Given the description of an element on the screen output the (x, y) to click on. 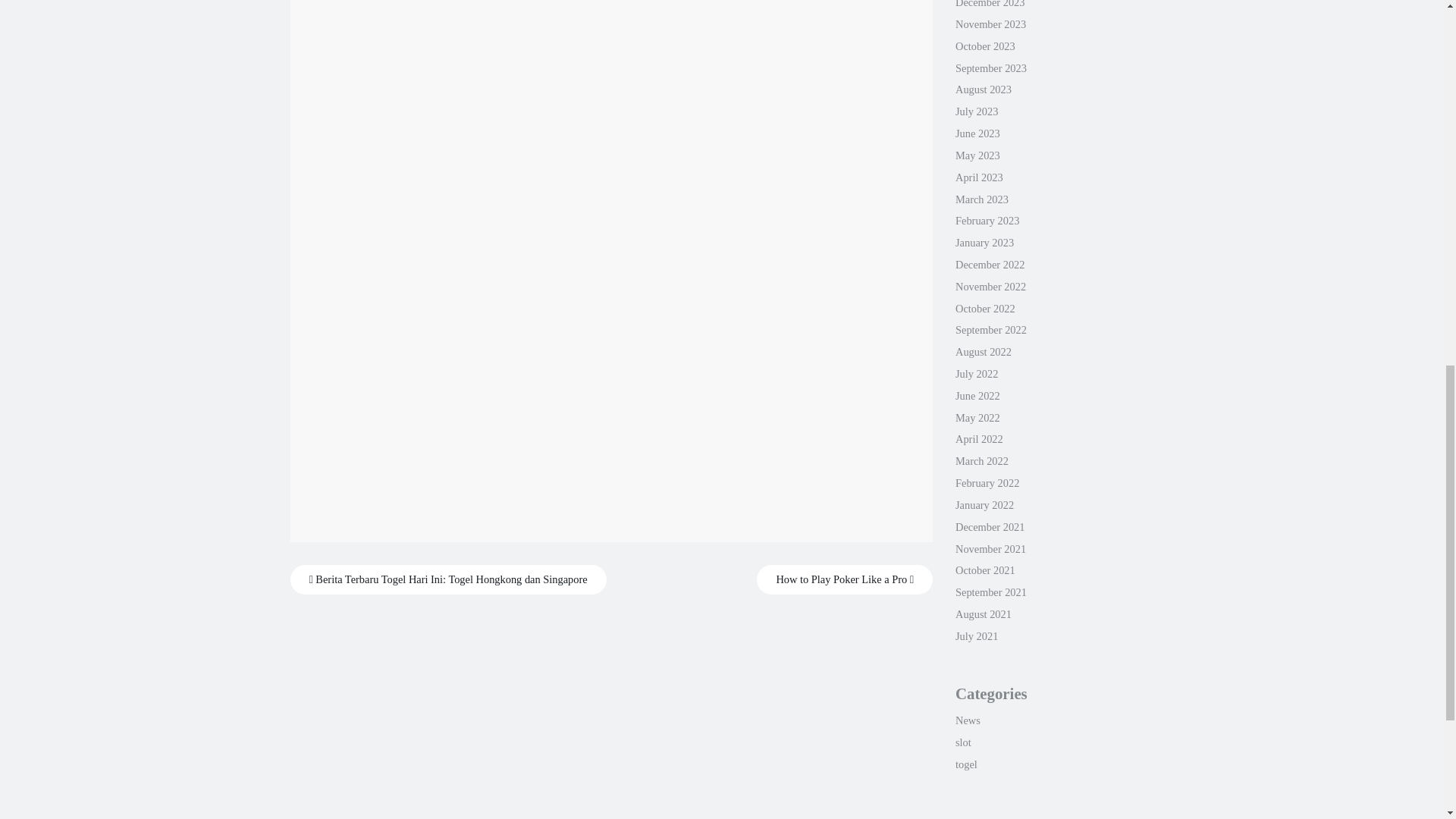
July 2022 (976, 373)
July 2023 (976, 111)
August 2023 (983, 89)
June 2023 (977, 133)
December 2023 (990, 4)
May 2023 (977, 155)
November 2023 (990, 24)
How to Play Poker Like a Pro (845, 579)
Berita Terbaru Togel Hari Ini: Togel Hongkong dan Singapore (447, 579)
September 2022 (990, 329)
March 2023 (982, 199)
October 2023 (984, 46)
August 2022 (983, 351)
December 2022 (990, 264)
February 2023 (987, 220)
